Given the description of an element on the screen output the (x, y) to click on. 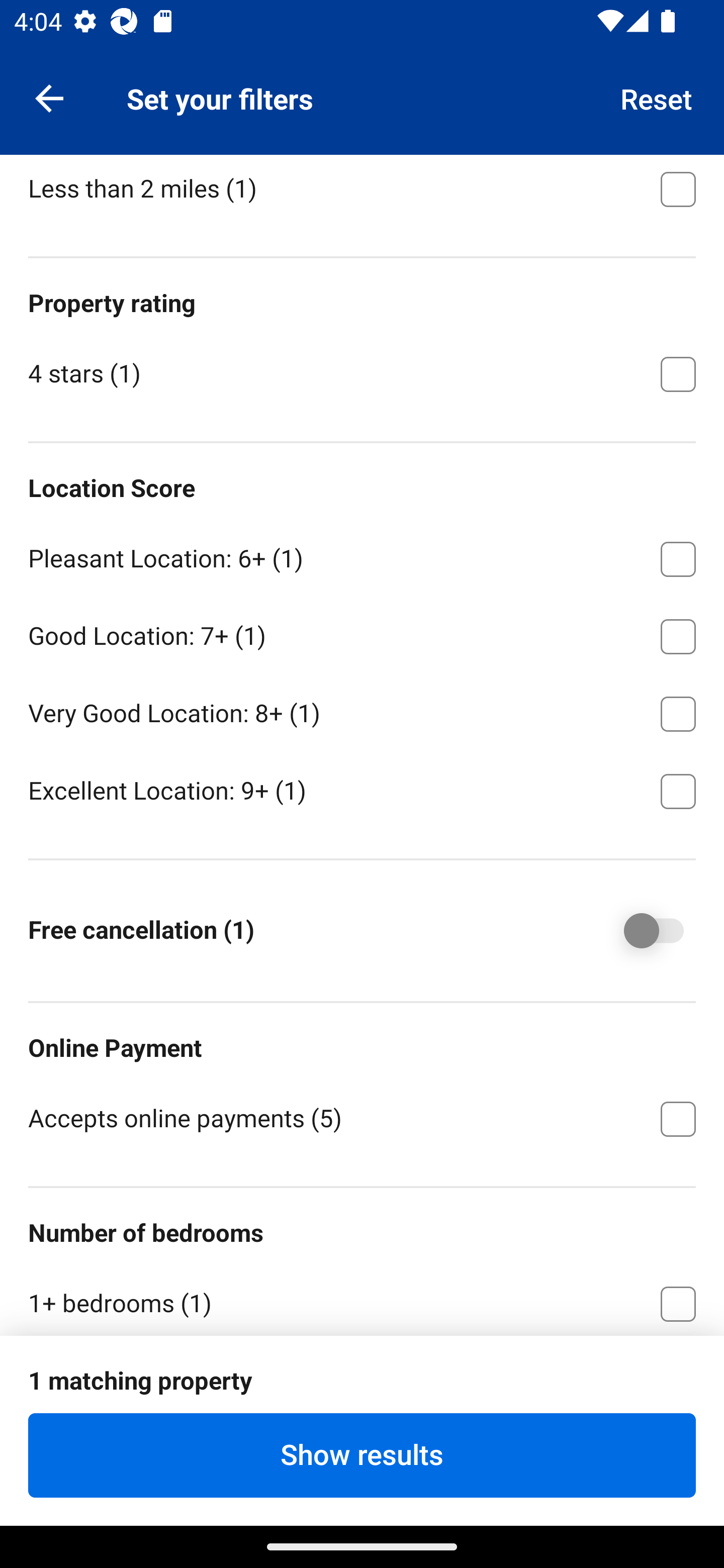
Navigate up (49, 97)
Reset (656, 97)
Less than 1 mile ⁦(1) (361, 108)
Less than 2 miles ⁦(1) (361, 191)
4 stars ⁦(1) (361, 372)
Pleasant Location: 6+ ⁦(1) (361, 555)
Good Location: 7+ ⁦(1) (361, 633)
Very Good Location: 8+ ⁦(1) (361, 710)
Excellent Location: 9+ ⁦(1) (361, 789)
Free cancellation ⁦(1) (639, 931)
Accepts online payments ⁦(5) (361, 1117)
1+ bedrooms ⁦(1) (361, 1298)
Show results (361, 1454)
